Given the description of an element on the screen output the (x, y) to click on. 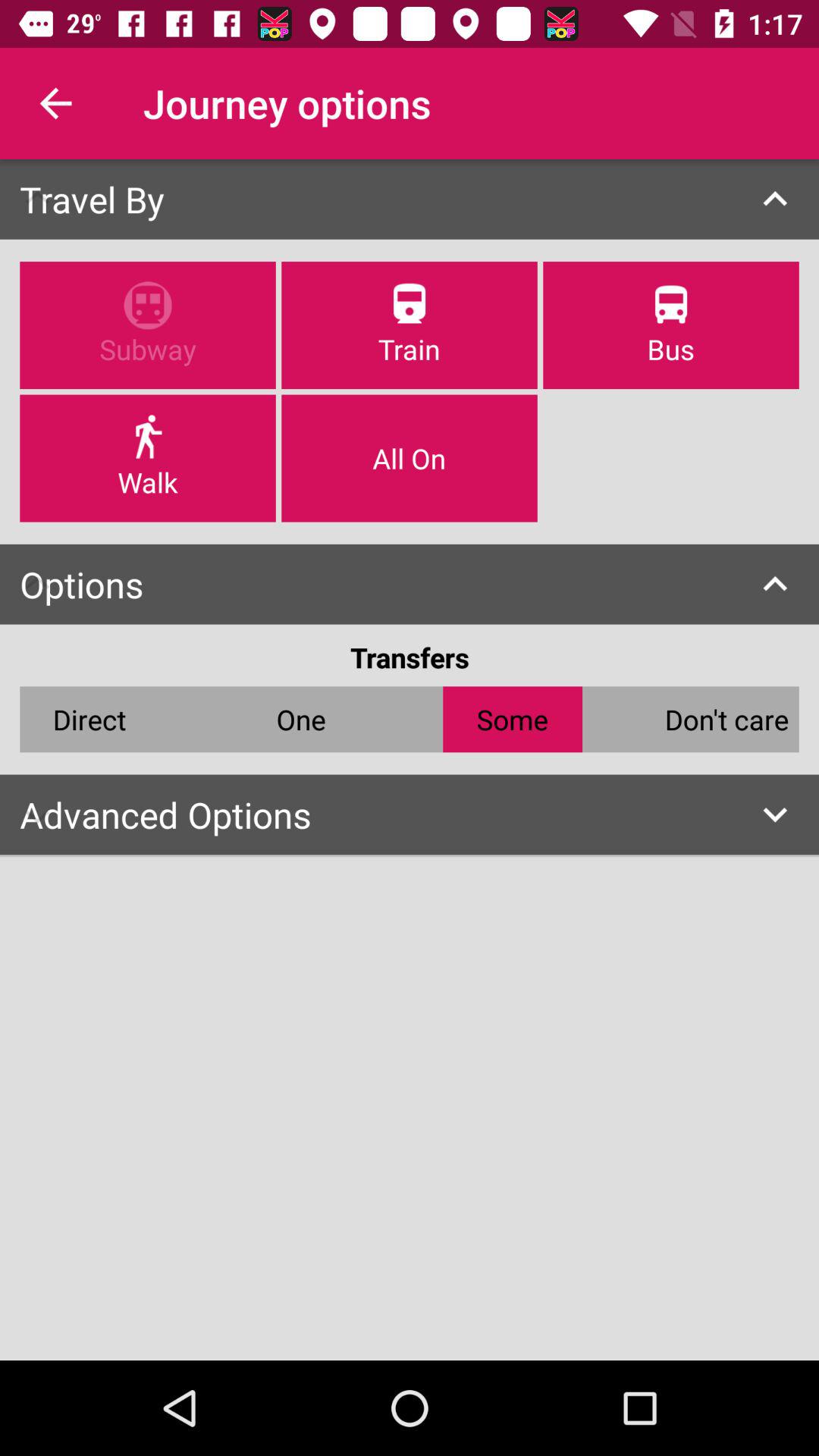
turn on the icon above the advanced options icon (300, 719)
